Given the description of an element on the screen output the (x, y) to click on. 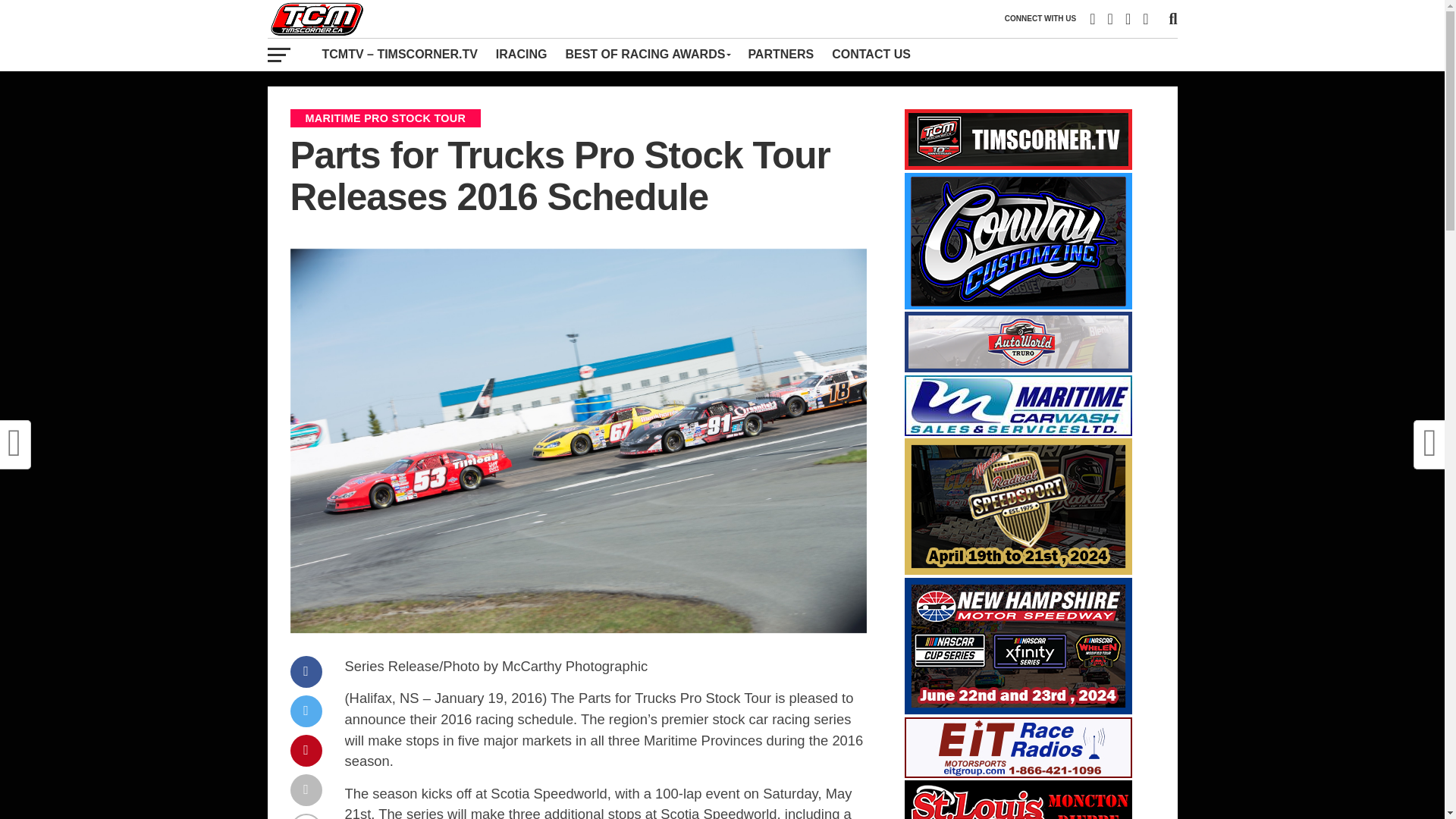
IRACING (521, 54)
BEST OF RACING AWARDS (647, 54)
CONTACT US (871, 54)
PARTNERS (780, 54)
